Given the description of an element on the screen output the (x, y) to click on. 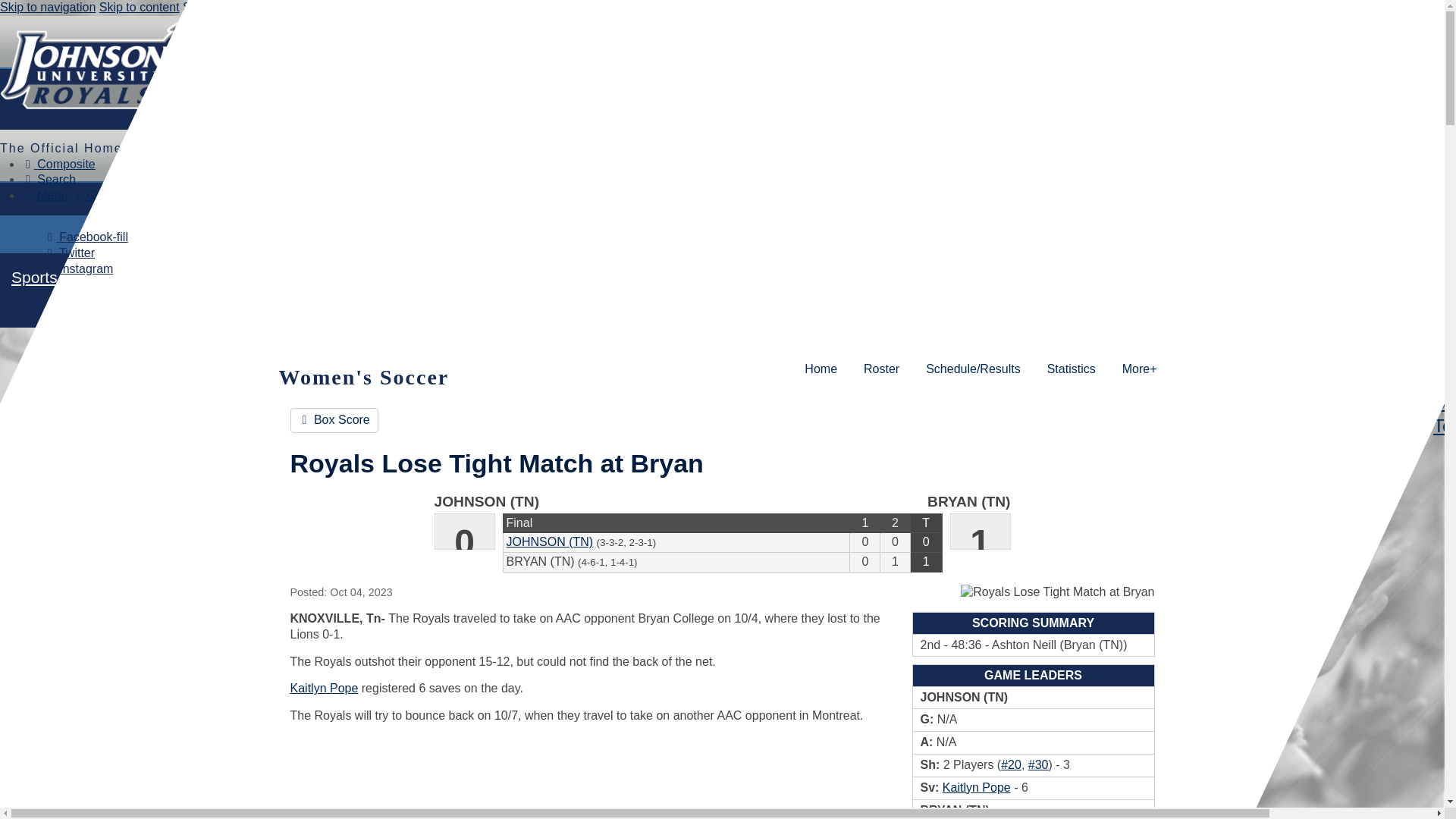
Search (48, 178)
Annabel Reiche (1011, 764)
Facebook-fill (85, 236)
Anna Jo Mullins (1037, 764)
Skip to content (139, 6)
Skip to navigation (48, 6)
Skip to footer (218, 6)
Twitter (68, 252)
Menu Close (69, 195)
Instagram (78, 268)
Sports (34, 277)
Composite (58, 164)
